Given the description of an element on the screen output the (x, y) to click on. 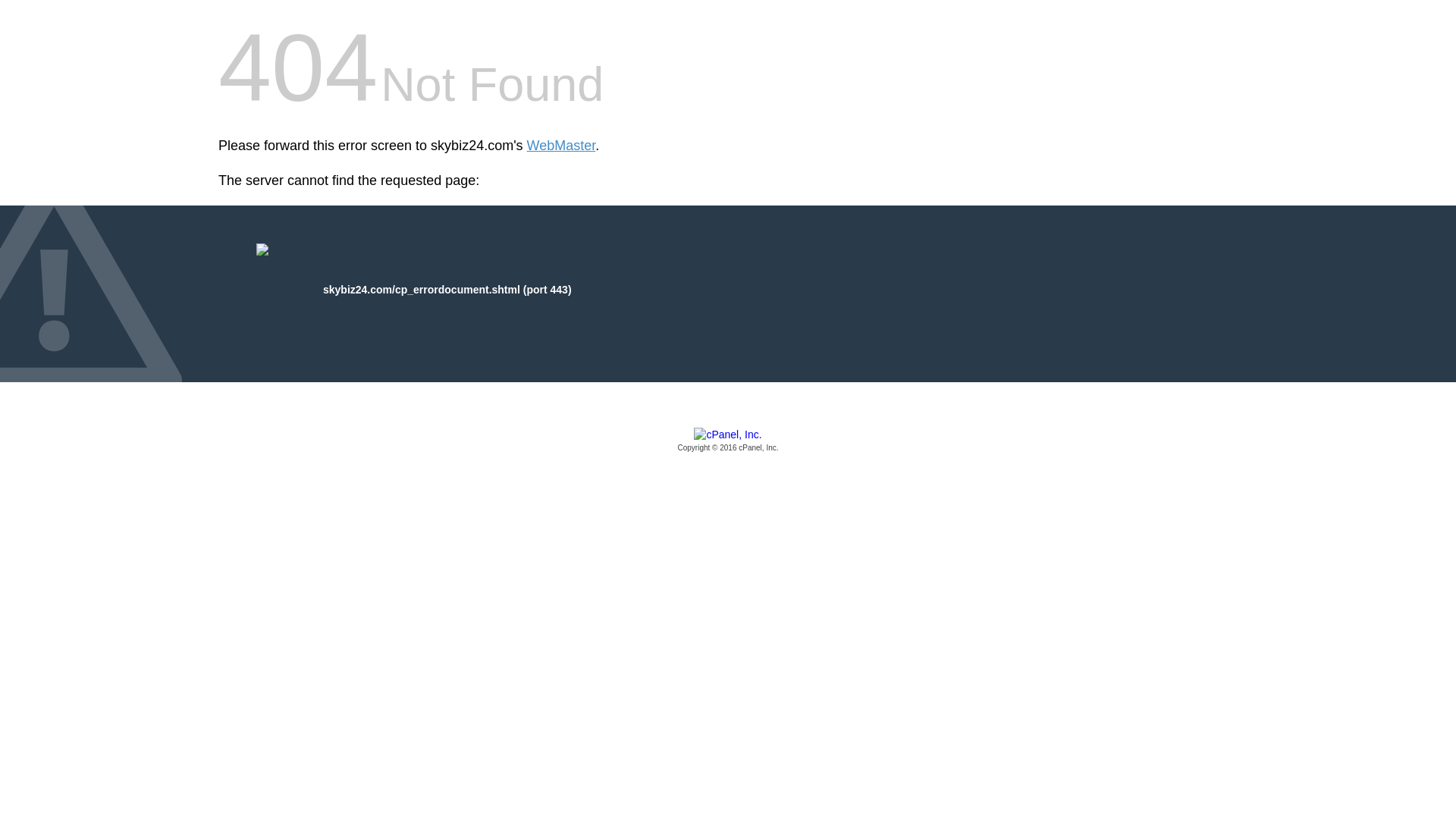
cPanel, Inc. (727, 440)
WebMaster (561, 145)
